Given the description of an element on the screen output the (x, y) to click on. 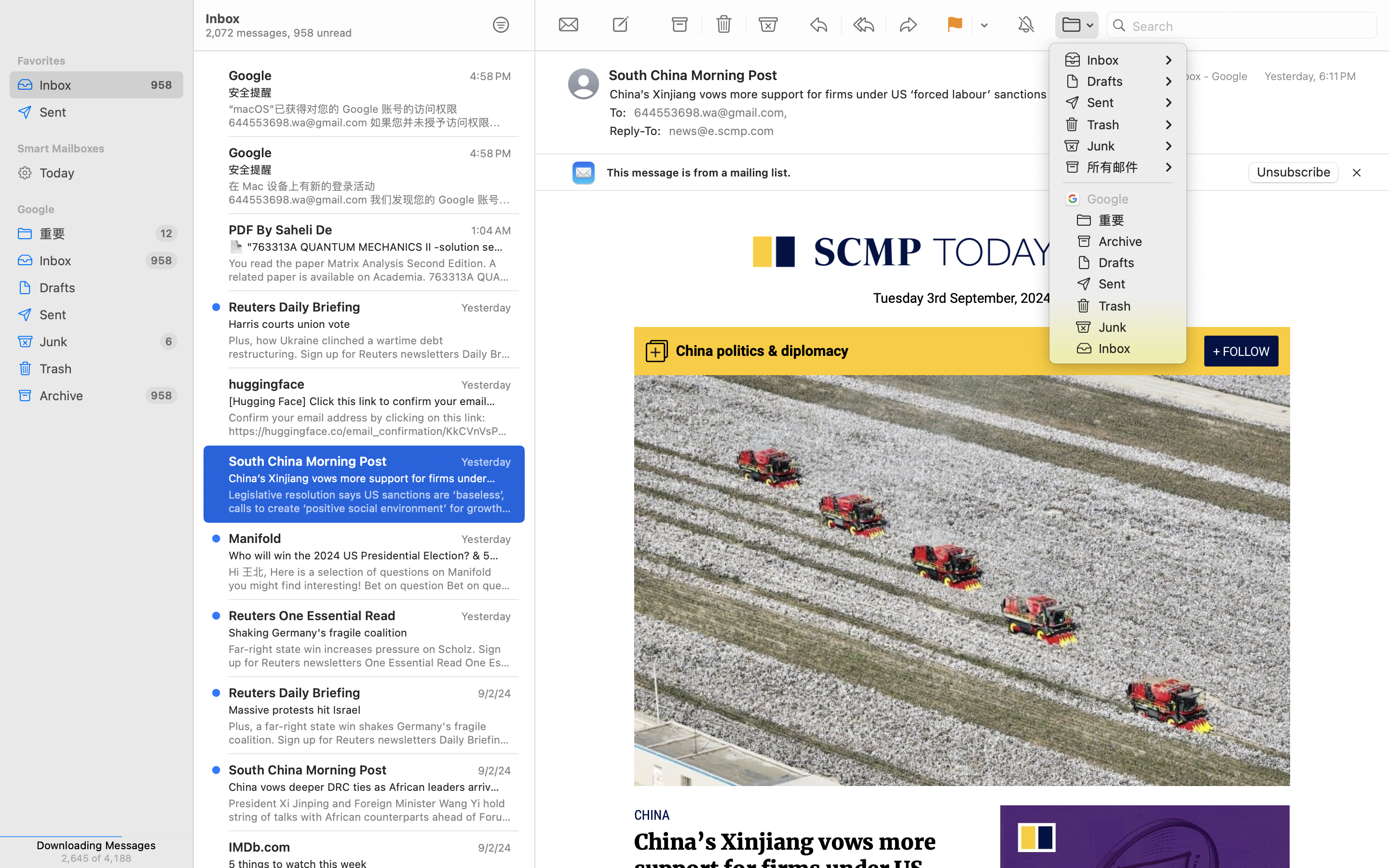
4:58 PM Element type: AXStaticText (490, 75)
Legislative resolution says US sanctions are ‘baseless’, calls to create ‘positive social environment’ for growth of businesses targeted. - South China Morning Post, SCMP, SCMP Today: Intl Edition - Legislative resolution says US sanctions are ‘baseless’, calls to create ‘positive social environment’ for growth of businesses targeted. Tuesday 3rd September, 2024 China politics & diplomacy ChinaChina’s Xinjiang vows more support for firms under US ‘forced labour’ sanctions3 Sep, 2024 - 04:36 pmLegislative resolution says US sanctions are ‘baseless’, calls to create ‘positive social environment’ for growth of businesses targeted. China11 dead in eastern China, driver detained after bus hits crowd outside school3 Sep, 2024 - 04:43 pm ChinaChinese researchers’ implant genetically modifies brain cells for neuron growth3 Sep, 2024 - 04:06 pm Featured Podcast3. Millennials, GenZ and hire education Video Of The Day China and Singapore embark on bigger joint navy exercise as South China Sea ten Element type: AXStaticText (369, 501)
2,645 of 4,188 Element type: AXStaticText (95, 857)
“macOS”已获得对您的 Google 账号的访问权限 644553698.wa@gmail.com 如果您并未授予访问权限，则应检查此活动，并确保您的账号安全。 查看活动 您也可以访问以下网址查看安全性活动： https://myaccount.google.com/notifications 我们向您发送这封电子邮件，目的是让您了解关于您的 Google 账号和服务的重大变化。 © 2024 Google LLC, 1600 Amphitheatre Parkway, Mountain View, CA 94043, USA Element type: AXStaticText (369, 115)
644553698.wa@gmail.com Element type: AXStaticText (712, 112)
